Given the description of an element on the screen output the (x, y) to click on. 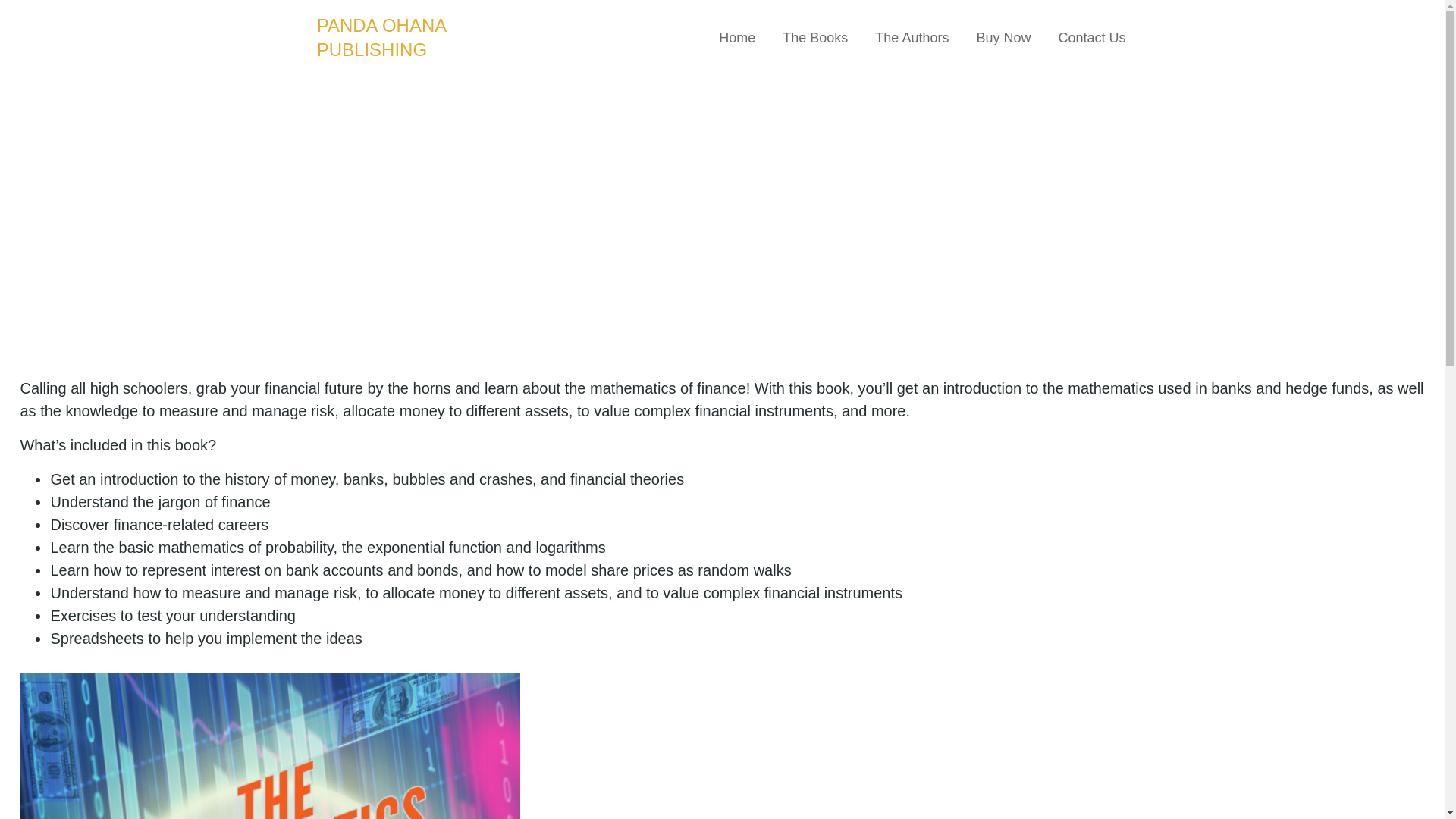
The Authors (911, 38)
Contact Us (1090, 38)
Buy Now (1002, 38)
The Books (814, 38)
PANDA OHANA PUBLISHING (381, 37)
